Given the description of an element on the screen output the (x, y) to click on. 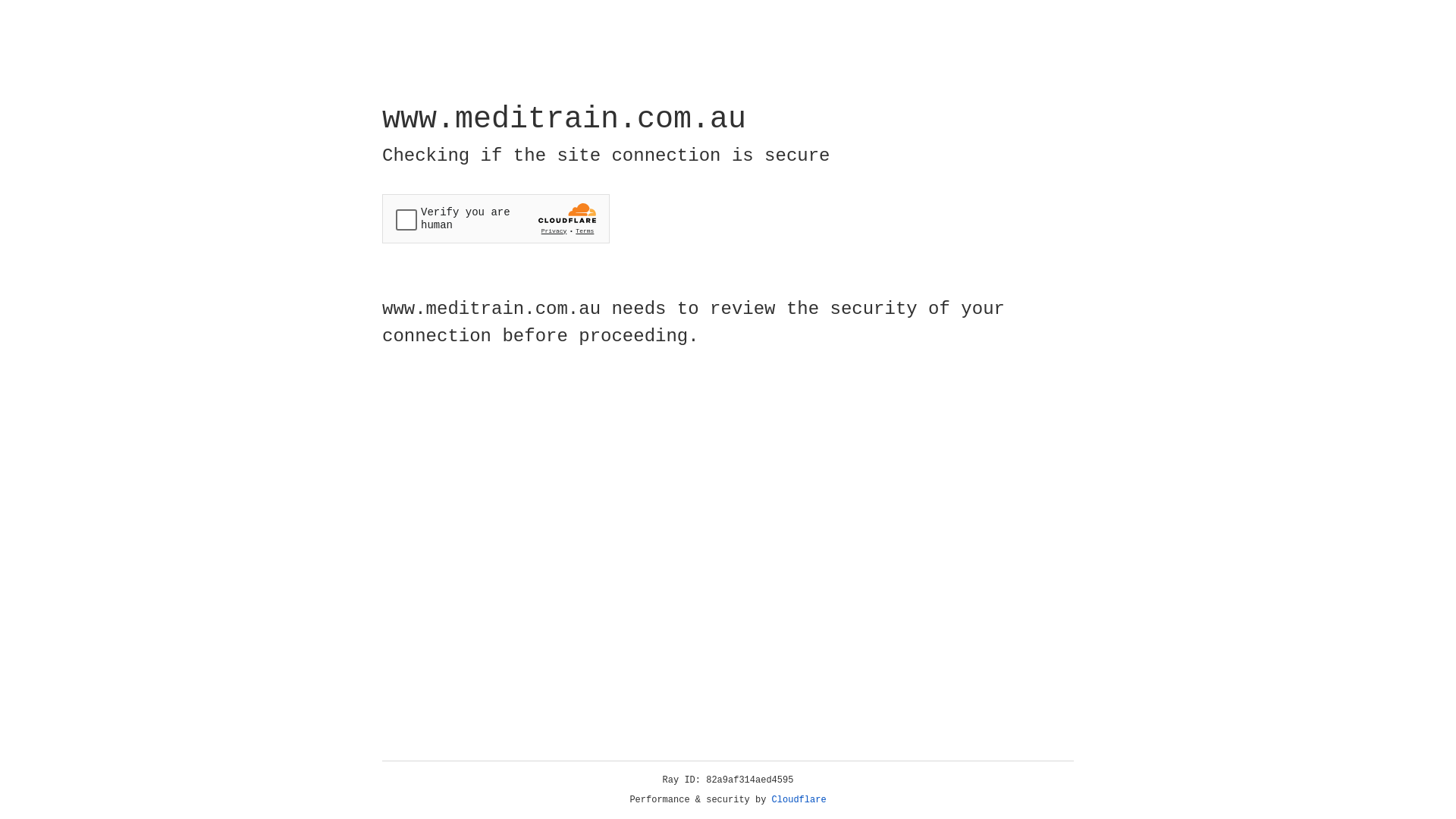
Cloudflare Element type: text (798, 799)
Widget containing a Cloudflare security challenge Element type: hover (495, 218)
